Given the description of an element on the screen output the (x, y) to click on. 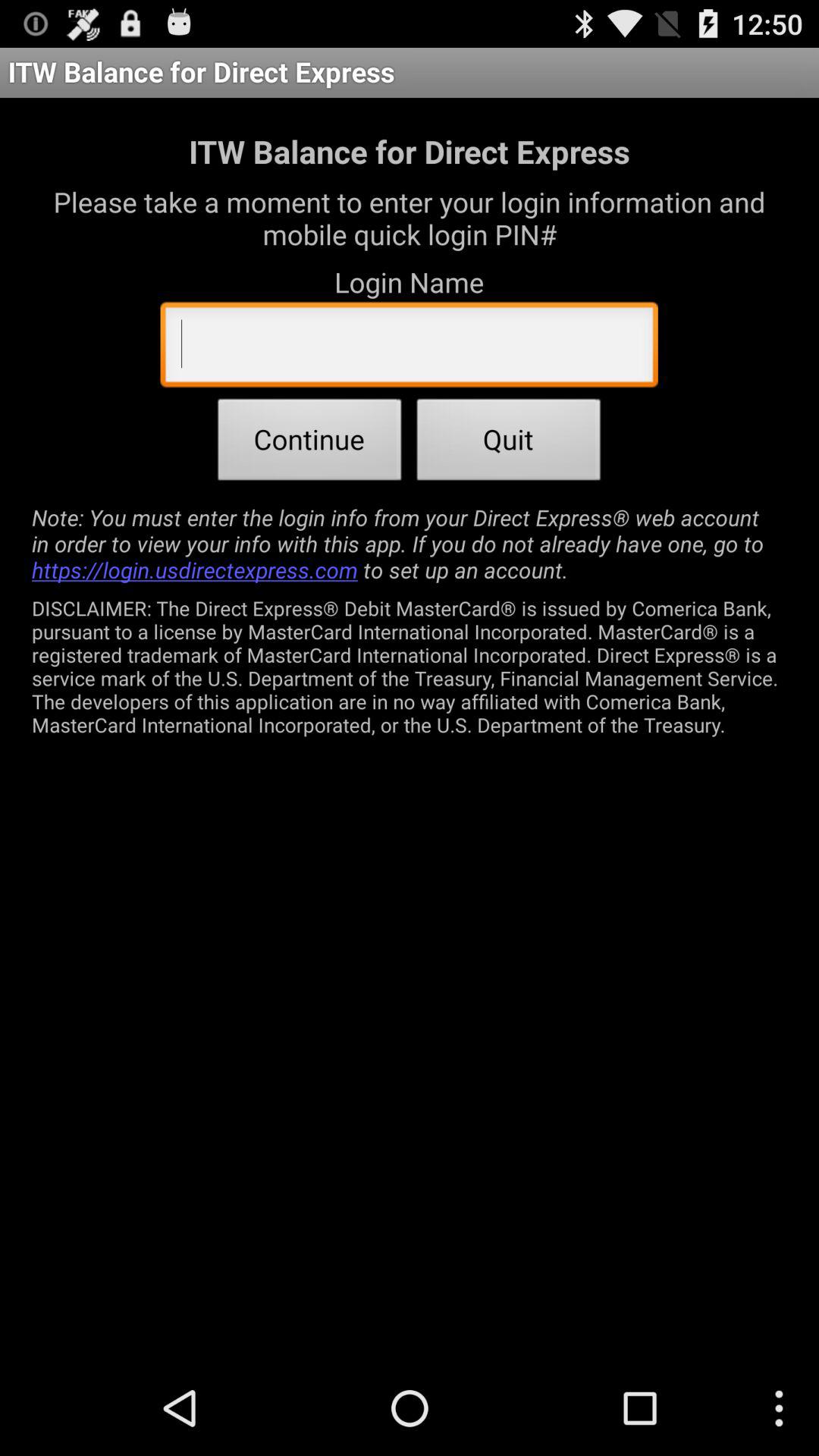
select the item next to continue item (508, 443)
